Given the description of an element on the screen output the (x, y) to click on. 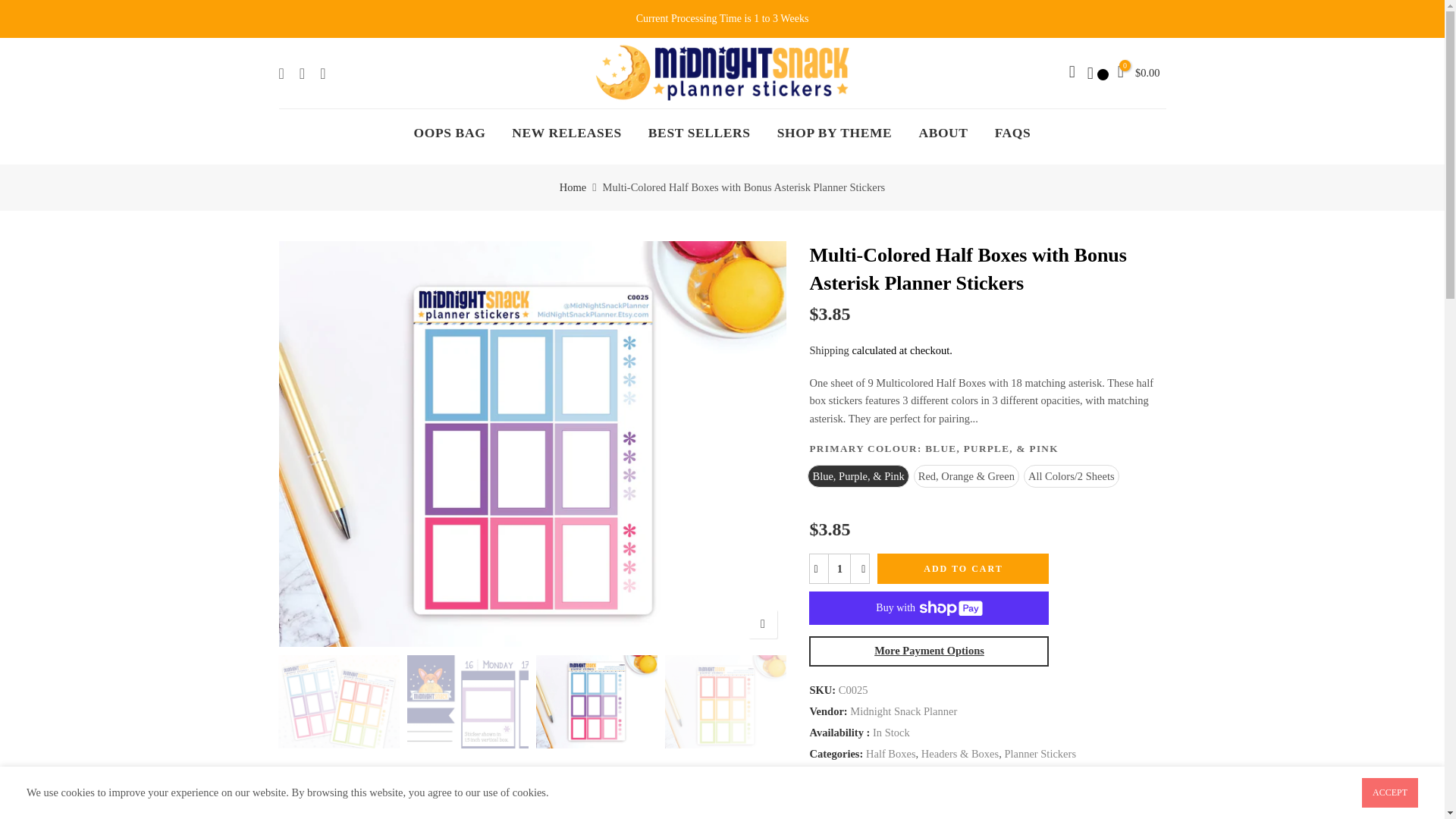
BEST SELLERS (698, 132)
Midnight Snack Planner (903, 711)
OOPS BAG (449, 132)
NEW RELEASES (566, 132)
SHOP BY THEME (833, 132)
